Given the description of an element on the screen output the (x, y) to click on. 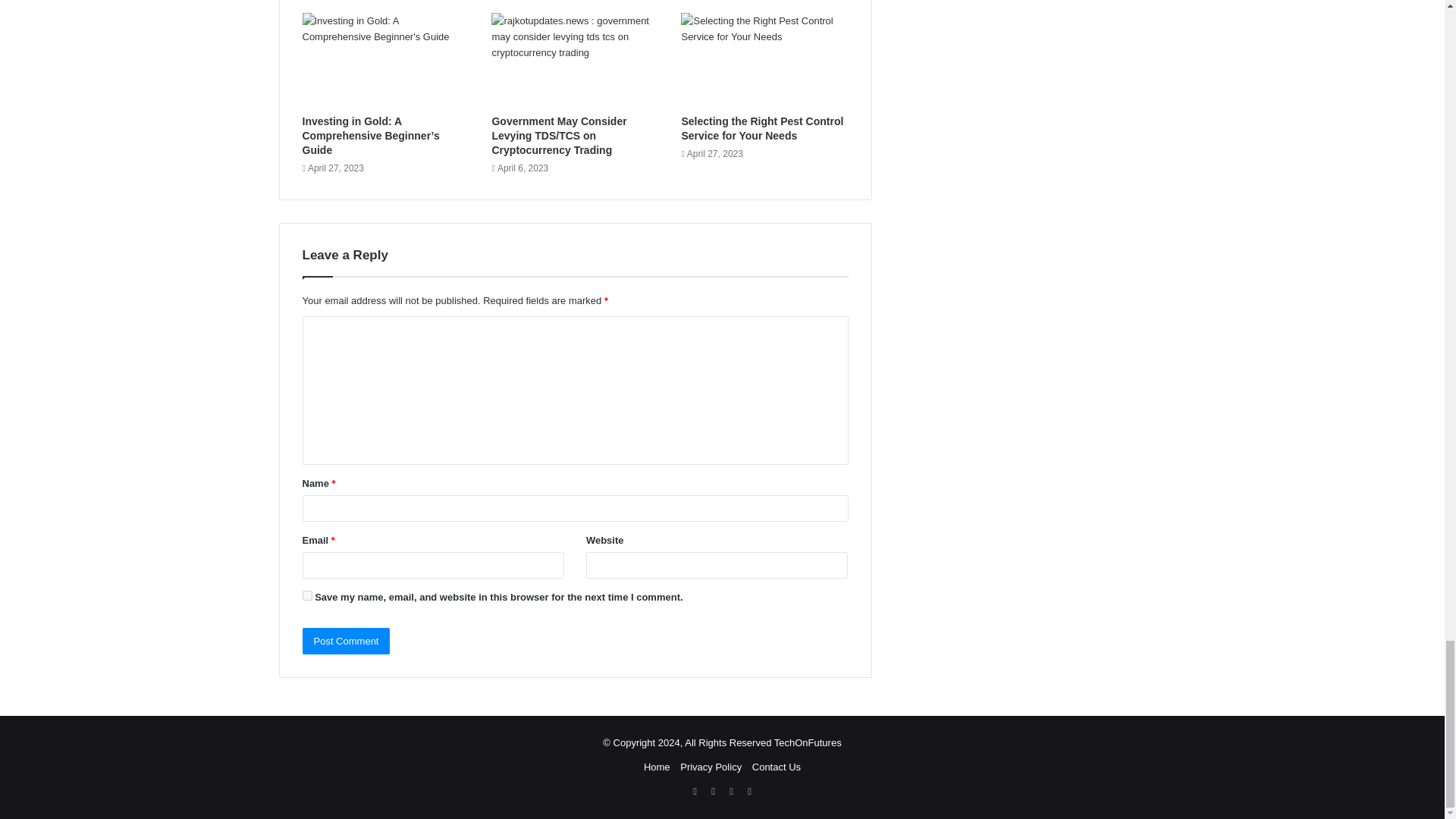
yes (306, 595)
Post Comment (345, 641)
